Given the description of an element on the screen output the (x, y) to click on. 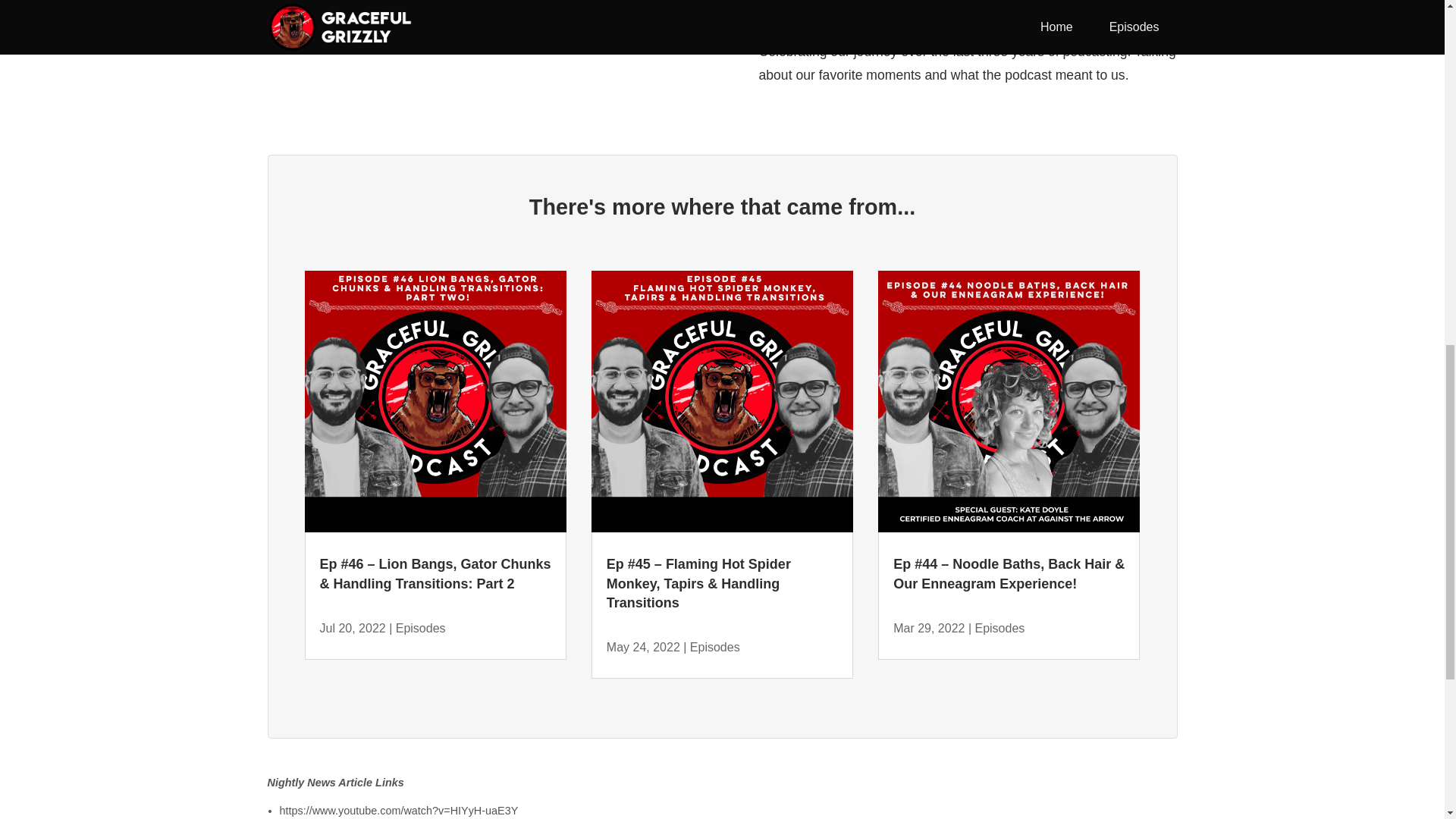
Episodes (420, 627)
Episodes (714, 646)
Episodes (999, 627)
